Given the description of an element on the screen output the (x, y) to click on. 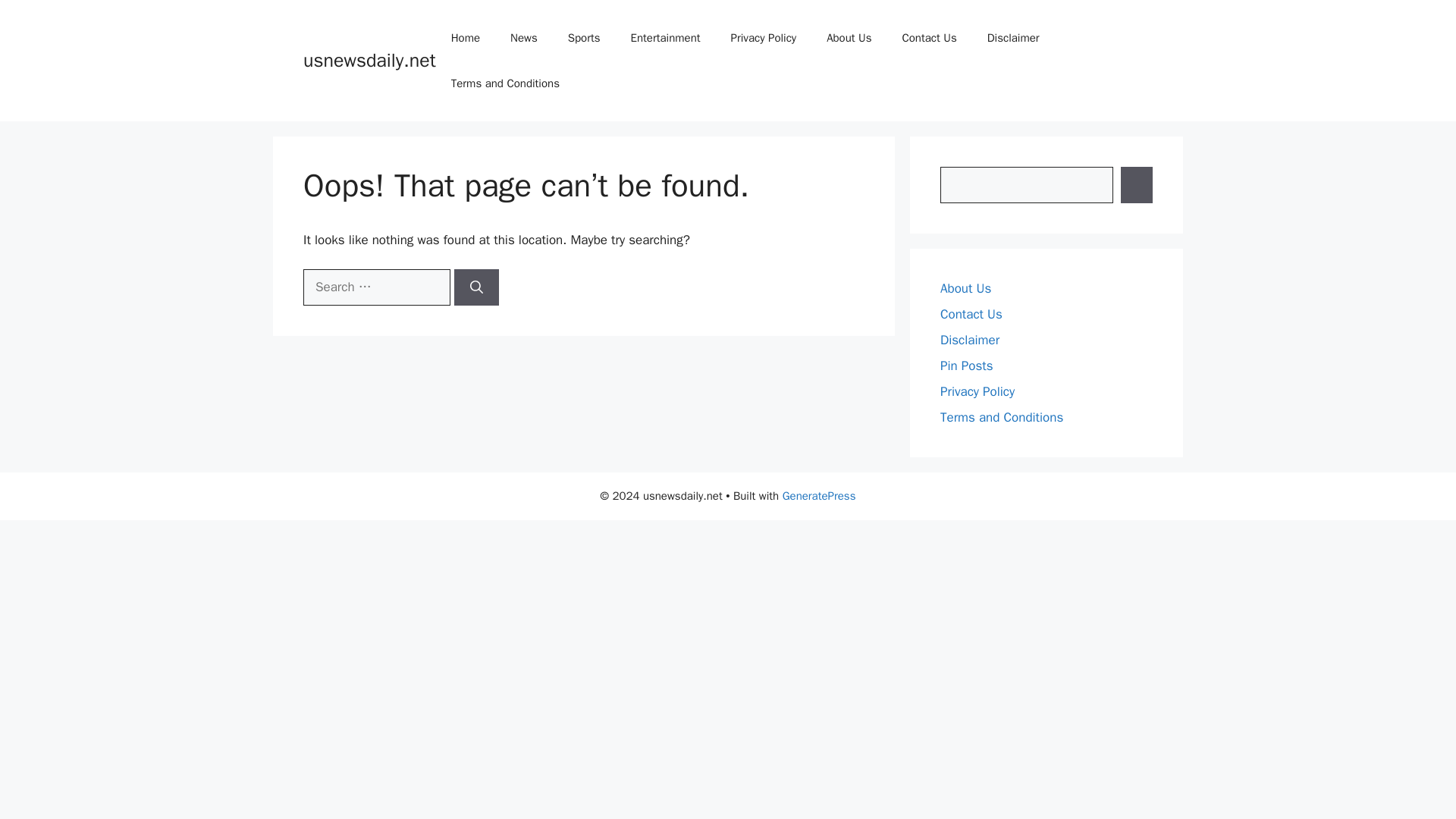
Privacy Policy (977, 391)
Disclaimer (1013, 37)
Disclaimer (969, 340)
GeneratePress (819, 495)
About Us (848, 37)
Sports (584, 37)
About Us (965, 288)
Entertainment (665, 37)
Terms and Conditions (1001, 417)
Terms and Conditions (505, 83)
Contact Us (928, 37)
News (524, 37)
usnewsdaily.net (368, 60)
Contact Us (971, 314)
Privacy Policy (764, 37)
